Given the description of an element on the screen output the (x, y) to click on. 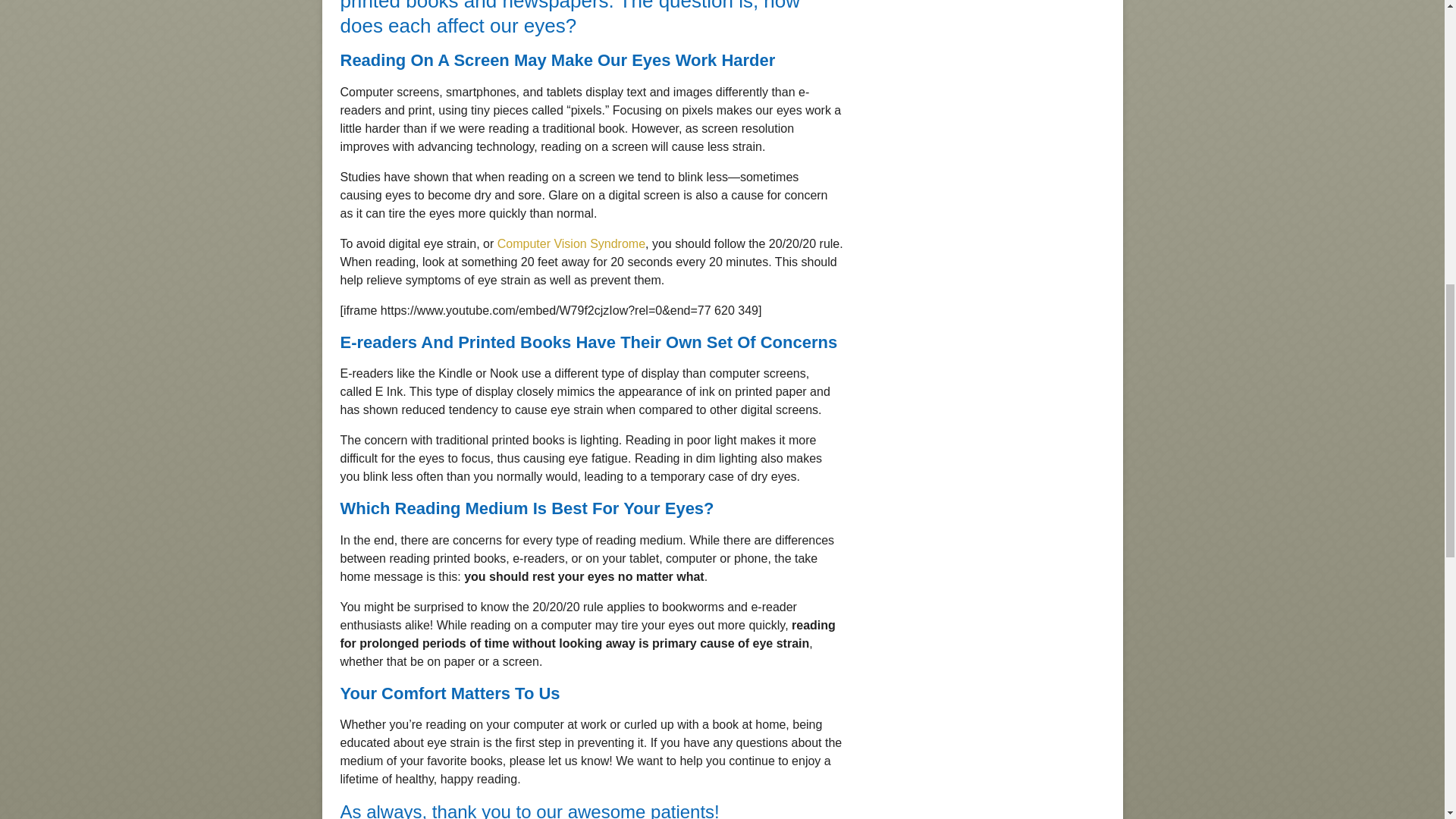
Computer Vision Syndrome (571, 242)
